Given the description of an element on the screen output the (x, y) to click on. 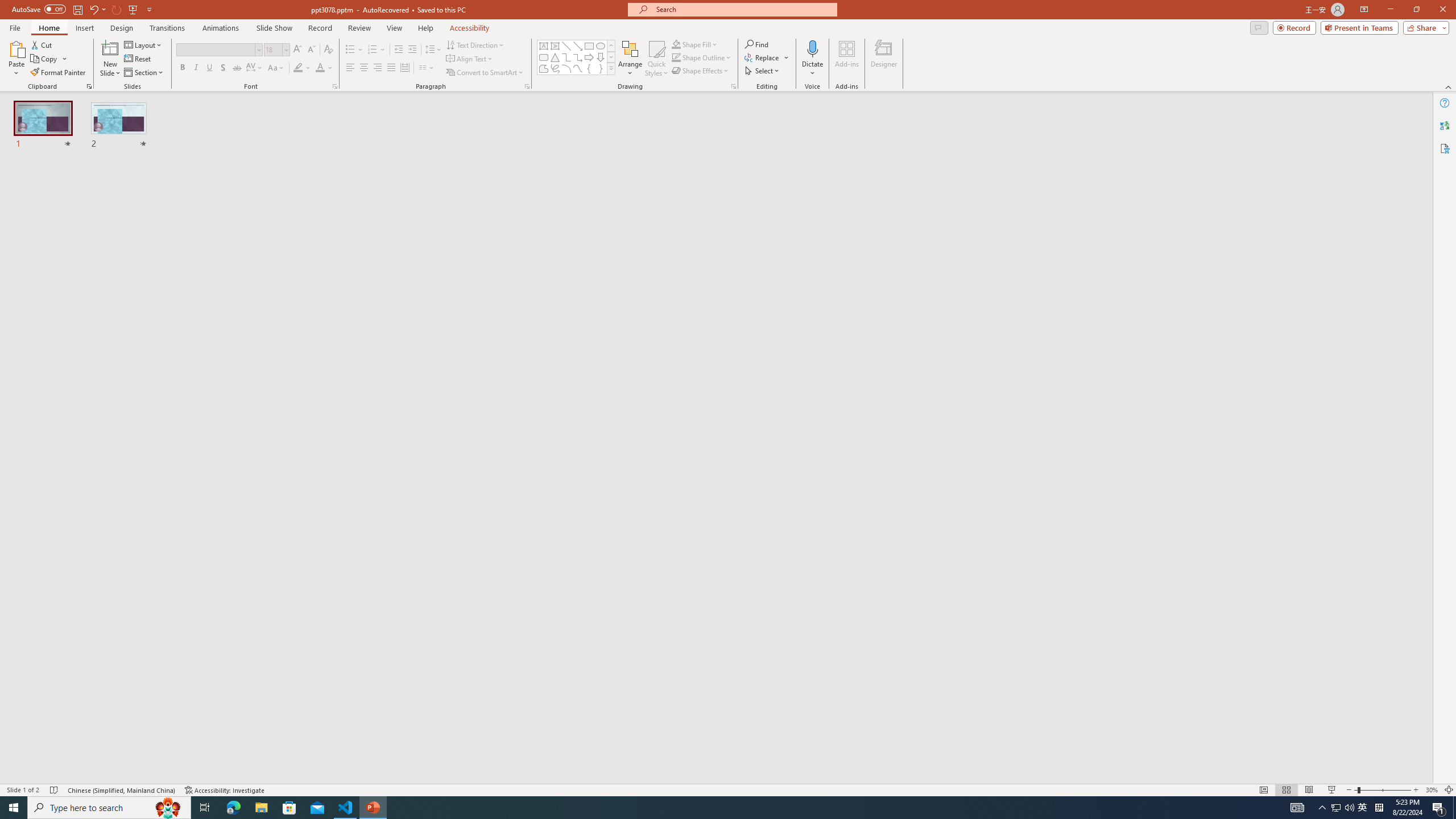
Decrease Indent (398, 49)
Freeform: Scribble (554, 68)
Freeform: Shape (543, 68)
Line Spacing (433, 49)
Line (566, 45)
Shadow (223, 67)
Paragraph... (526, 85)
